Given the description of an element on the screen output the (x, y) to click on. 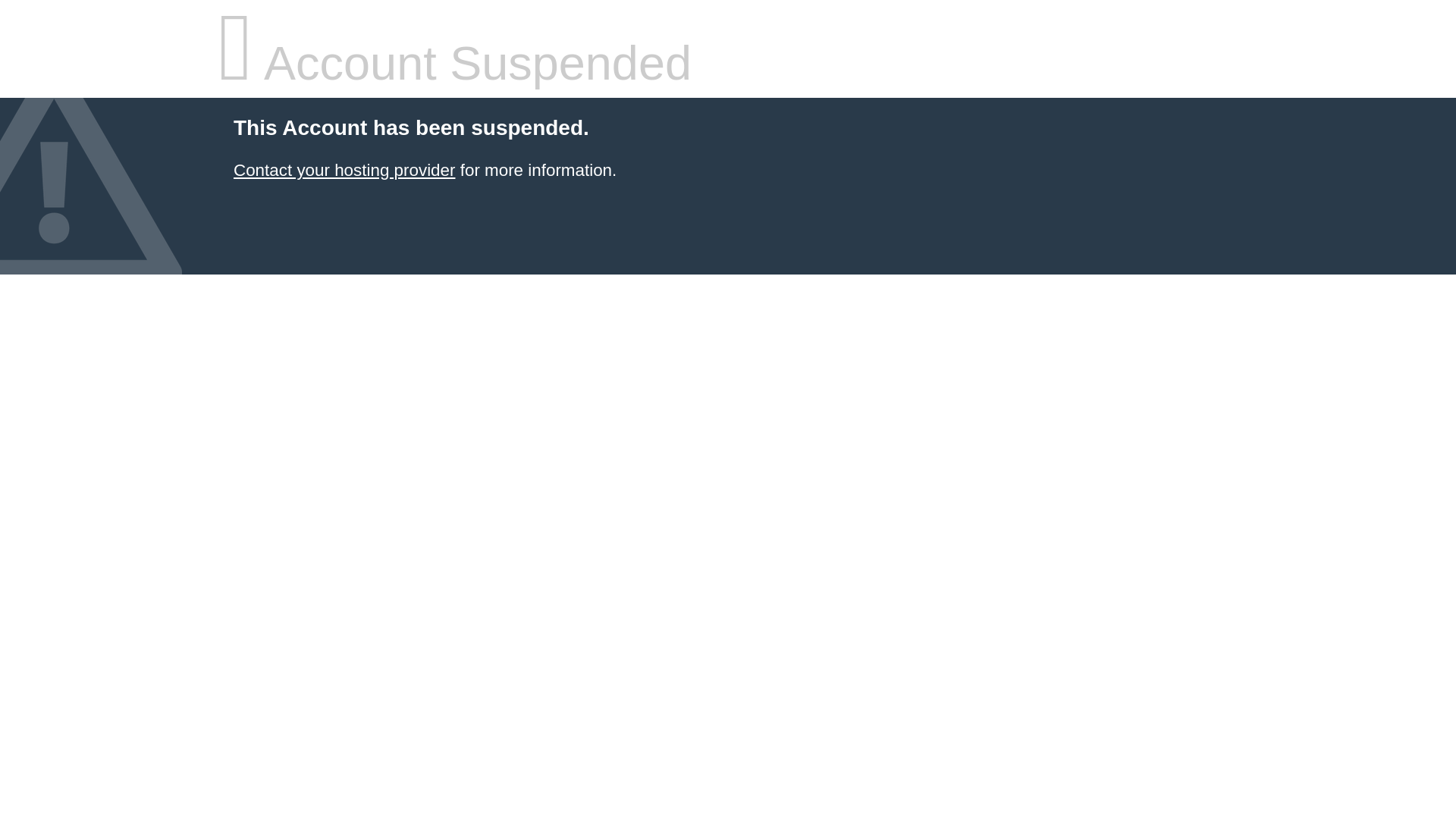
Contact your hosting provider (343, 169)
